Given the description of an element on the screen output the (x, y) to click on. 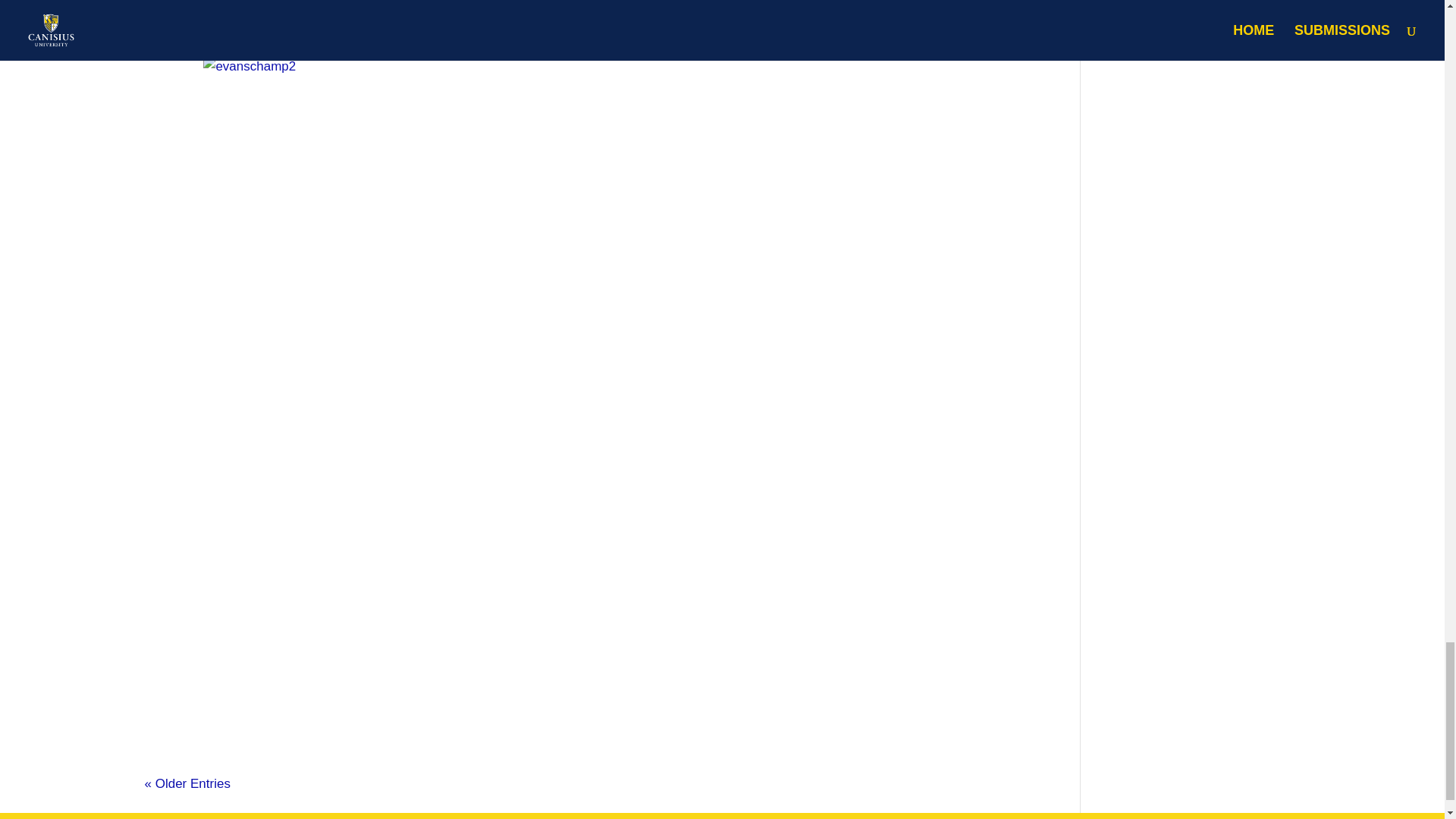
Posts by Gary L Steltermann (221, 25)
ALUMNI (382, 25)
GARY L STELTERMANN (221, 25)
